Given the description of an element on the screen output the (x, y) to click on. 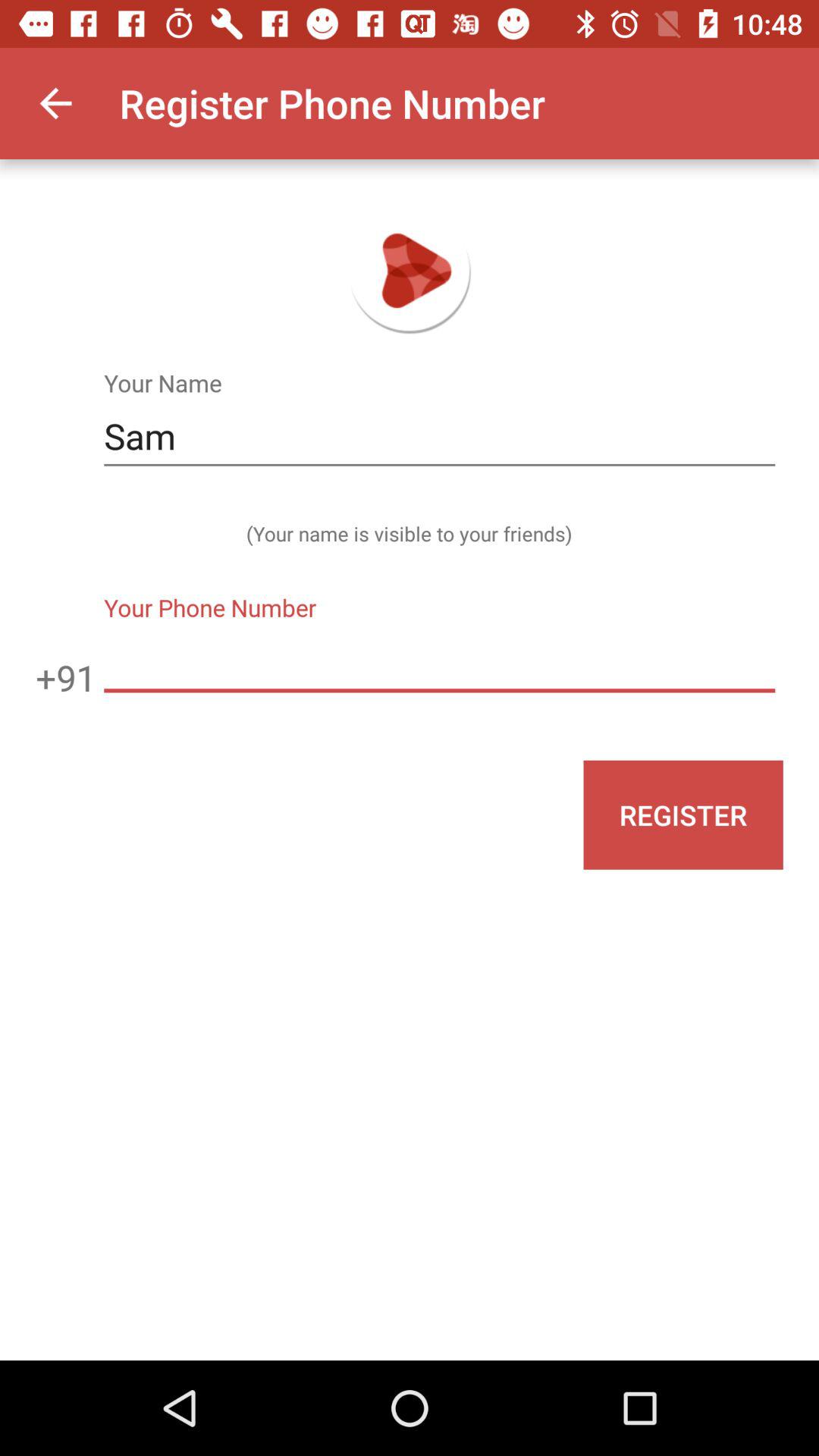
turn off the item above the your name is icon (439, 436)
